Given the description of an element on the screen output the (x, y) to click on. 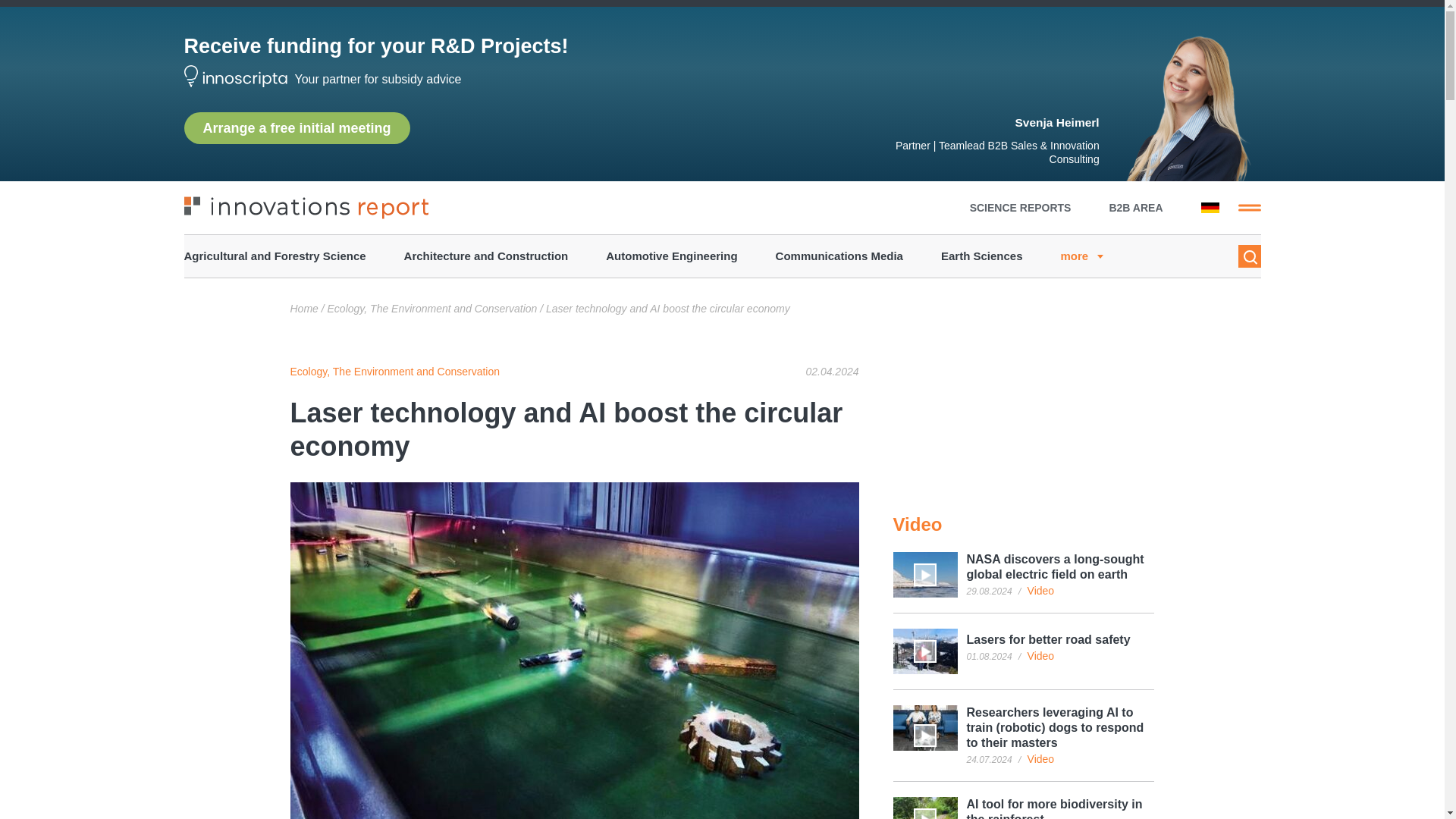
B2B AREA (1134, 207)
Architecture and Construction (486, 256)
Automotive Engineering (670, 256)
Communications Media (839, 256)
SCIENCE REPORTS (1020, 207)
Arrange a free initial meeting (296, 128)
Agricultural and Forestry Science (274, 256)
